Given the description of an element on the screen output the (x, y) to click on. 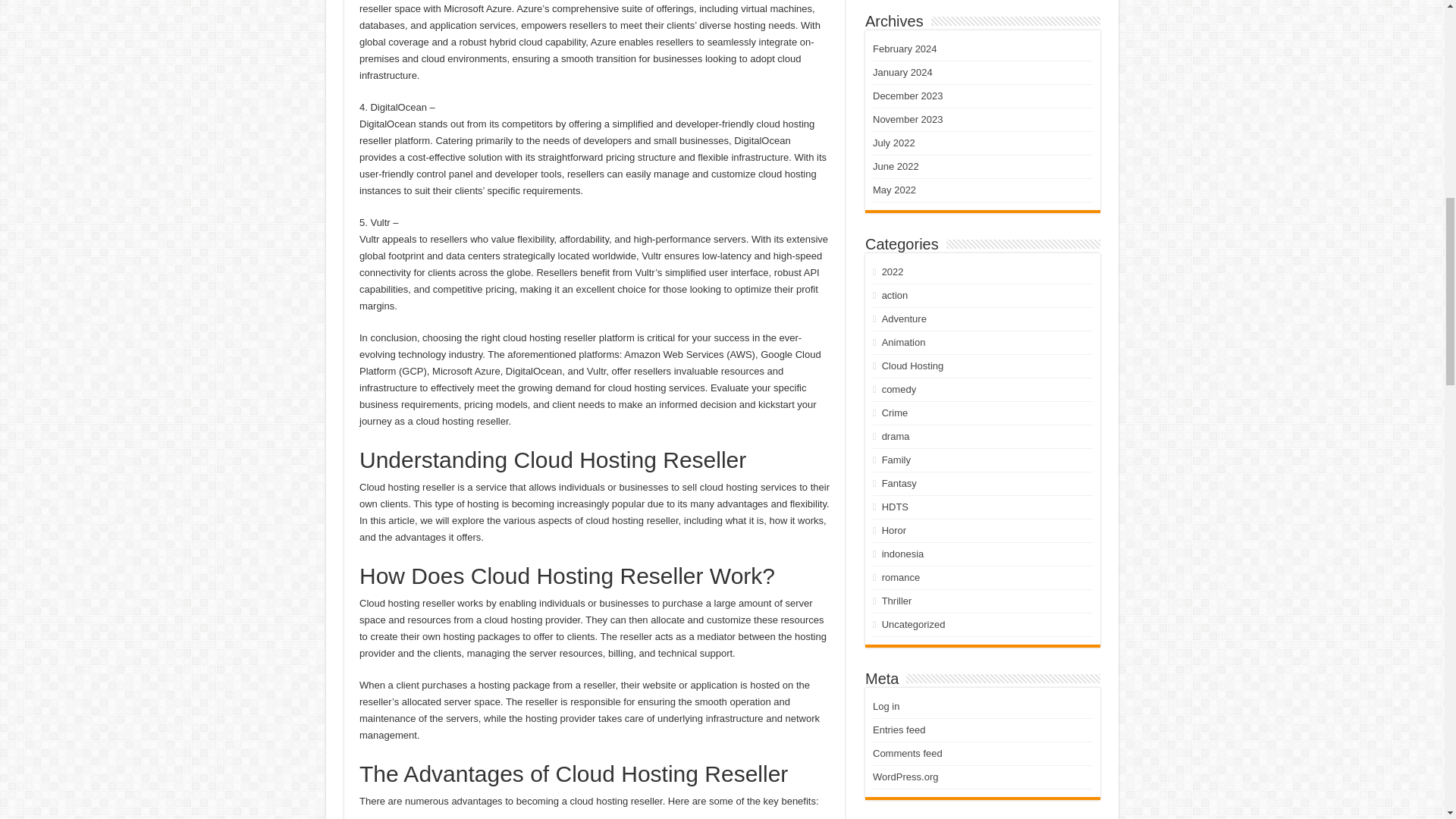
Scroll To Top (1421, 60)
